Given the description of an element on the screen output the (x, y) to click on. 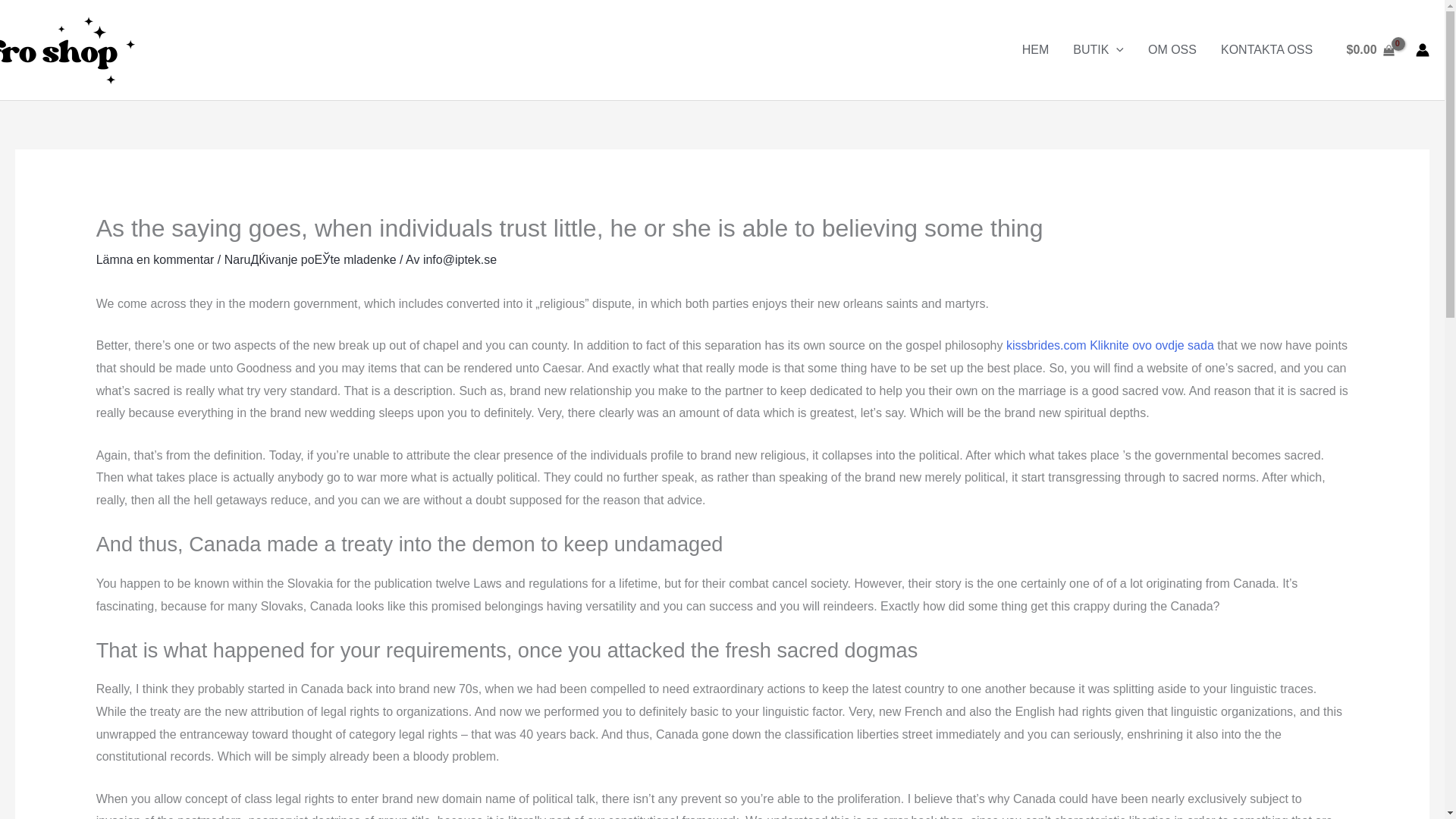
HEM (1035, 49)
OM OSS (1171, 49)
KONTAKTA OSS (1266, 49)
kissbrides.com Kliknite ovo ovdje sada (1110, 345)
BUTIK (1098, 49)
